Given the description of an element on the screen output the (x, y) to click on. 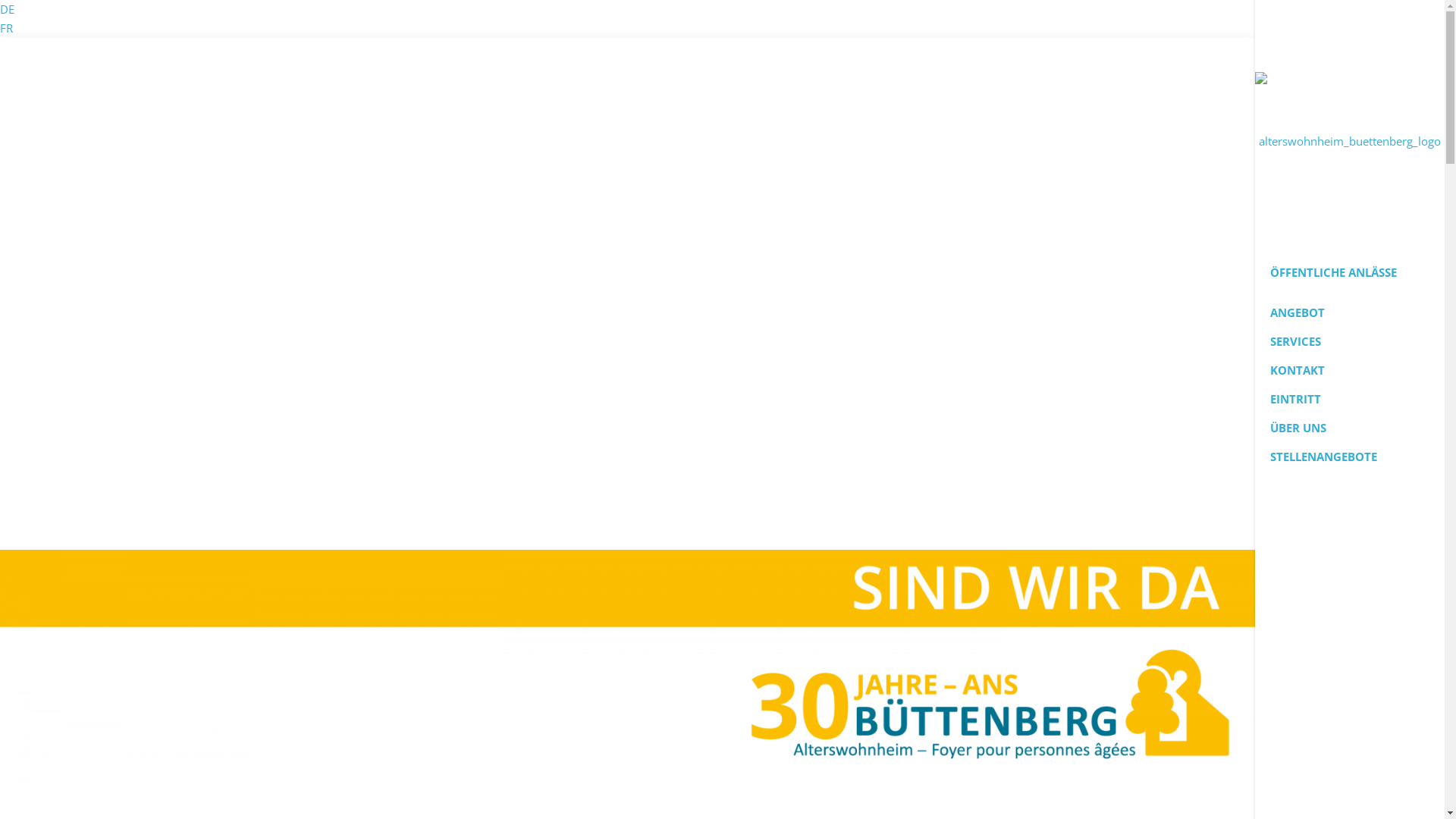
KONTAKT Element type: text (1349, 369)
STELLENANGEBOTE Element type: text (1349, 456)
FR Element type: text (6, 27)
DE Element type: text (7, 8)
SERVICES Element type: text (1349, 340)
EINTRITT Element type: text (1349, 398)
ANGEBOT Element type: text (1349, 312)
